Given the description of an element on the screen output the (x, y) to click on. 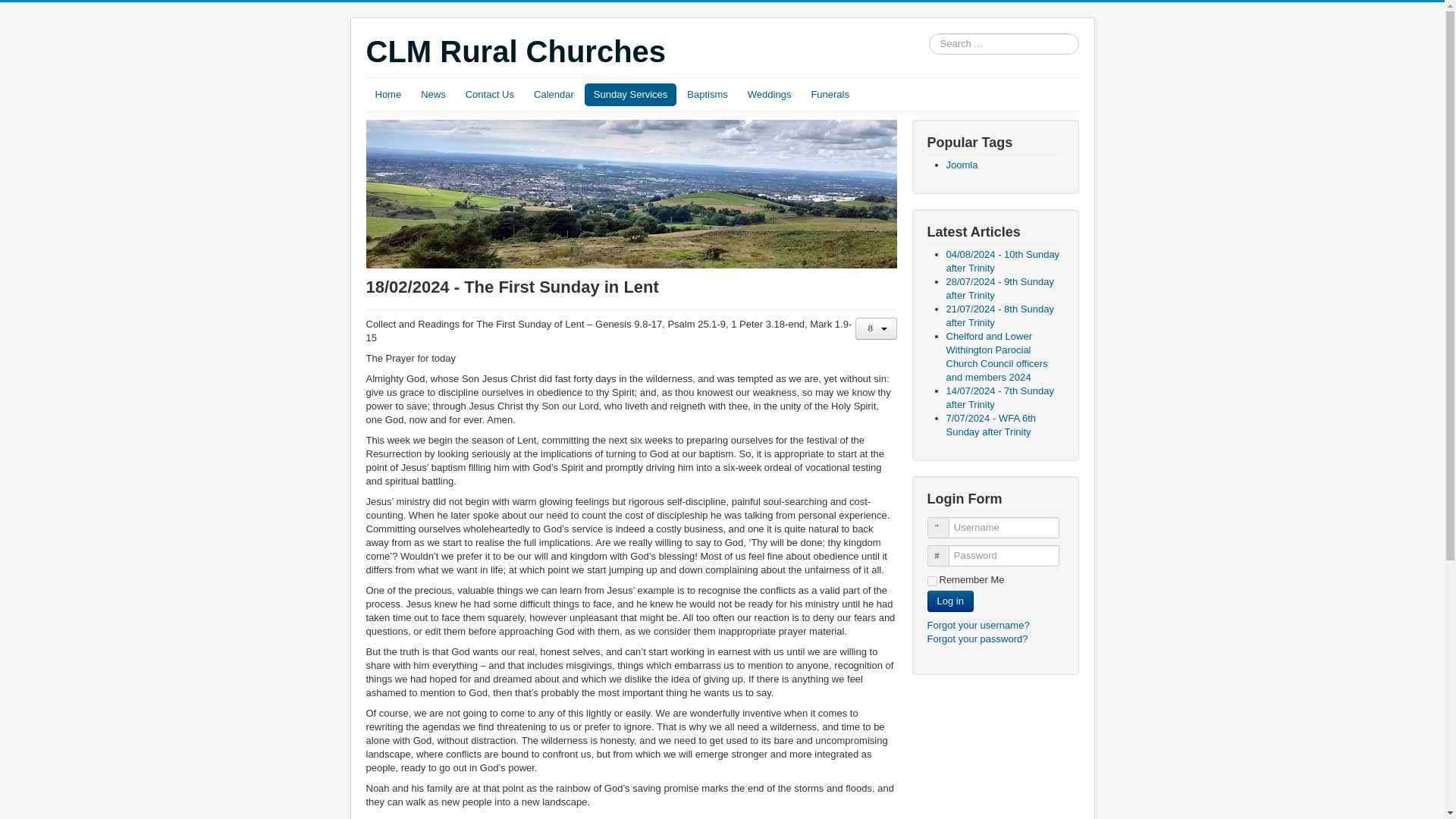
Home (387, 94)
Contact Us (489, 94)
Joomla (962, 164)
Funerals (830, 94)
Calendar (553, 94)
Baptisms (707, 94)
Log in (949, 600)
yes (931, 581)
Sunday Services (631, 94)
